Given the description of an element on the screen output the (x, y) to click on. 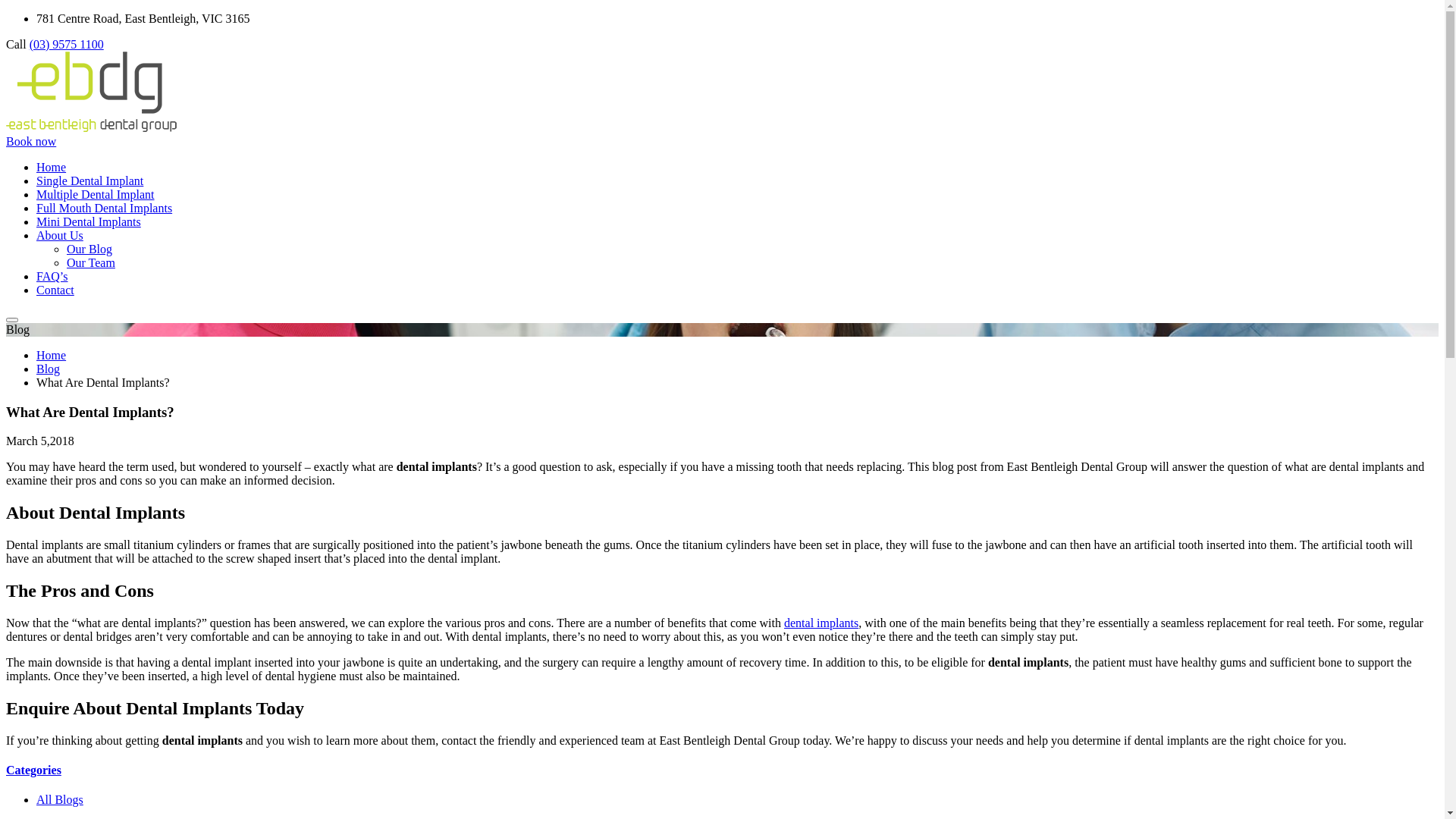
dental implants Element type: text (821, 622)
Book now Element type: text (31, 140)
Multiple Dental Implant Element type: text (95, 194)
Our Blog Element type: text (89, 248)
781 Centre Road, East Bentleigh, VIC 3165 Element type: text (142, 18)
East Bentleigh Dental Group Element type: hover (91, 127)
Blog Element type: text (47, 368)
Our Team Element type: text (90, 262)
About Us Element type: text (59, 235)
Single Dental Implant Element type: text (89, 180)
Mini Dental Implants Element type: text (88, 221)
Categories Element type: text (33, 769)
Home Element type: text (50, 354)
All Blogs Element type: text (59, 799)
Contact Element type: text (55, 289)
Home Element type: text (50, 166)
(03) 9575 1100 Element type: text (66, 43)
Full Mouth Dental Implants Element type: text (104, 207)
